Given the description of an element on the screen output the (x, y) to click on. 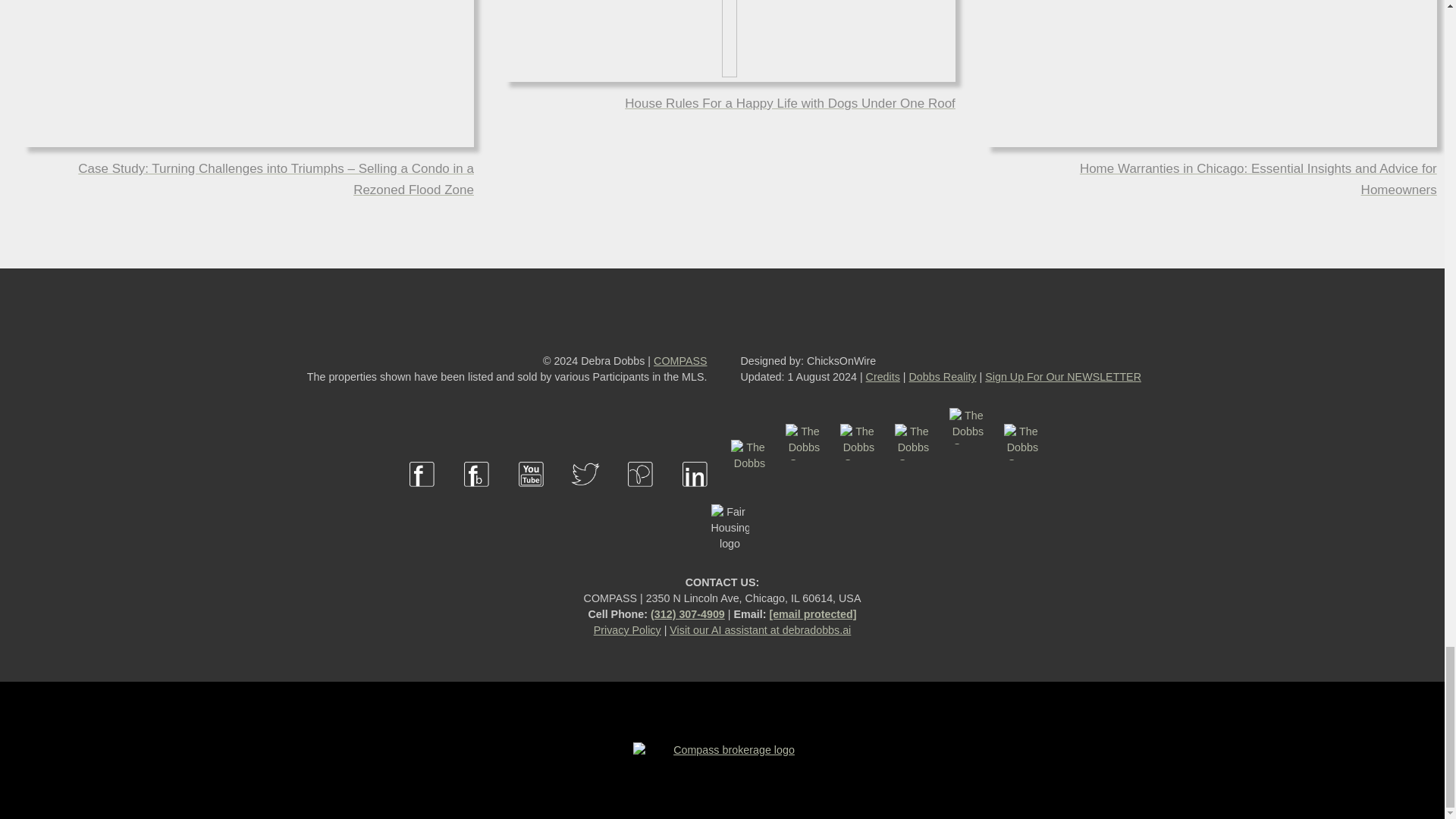
YouTube (531, 495)
Facebook Business Page (476, 495)
Google My Business (967, 495)
Zenlist (912, 495)
Compass Real Estate Brokerage (727, 749)
Privacy Policy (627, 630)
Facebook Profile (422, 495)
Instagram (857, 495)
Compass Real Estate Brokerage (679, 360)
Medium.com (1021, 495)
DebraDobbs.ai Real Estate Assistant (759, 630)
Twitter (585, 495)
LinkedIn (694, 495)
Zillow (748, 495)
Yelp (803, 495)
